Given the description of an element on the screen output the (x, y) to click on. 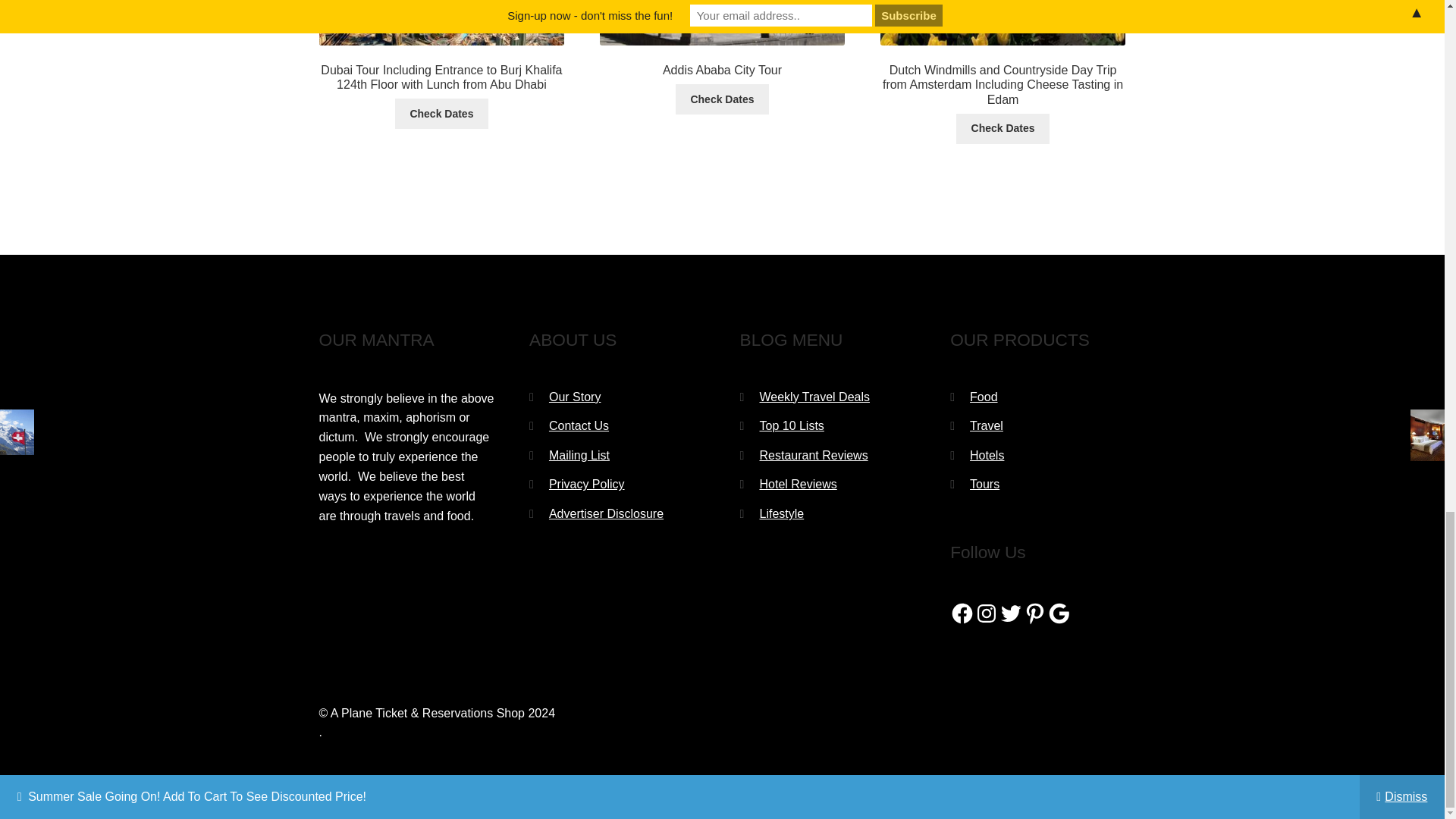
Addis Ababa City Tour (722, 99)
